Given the description of an element on the screen output the (x, y) to click on. 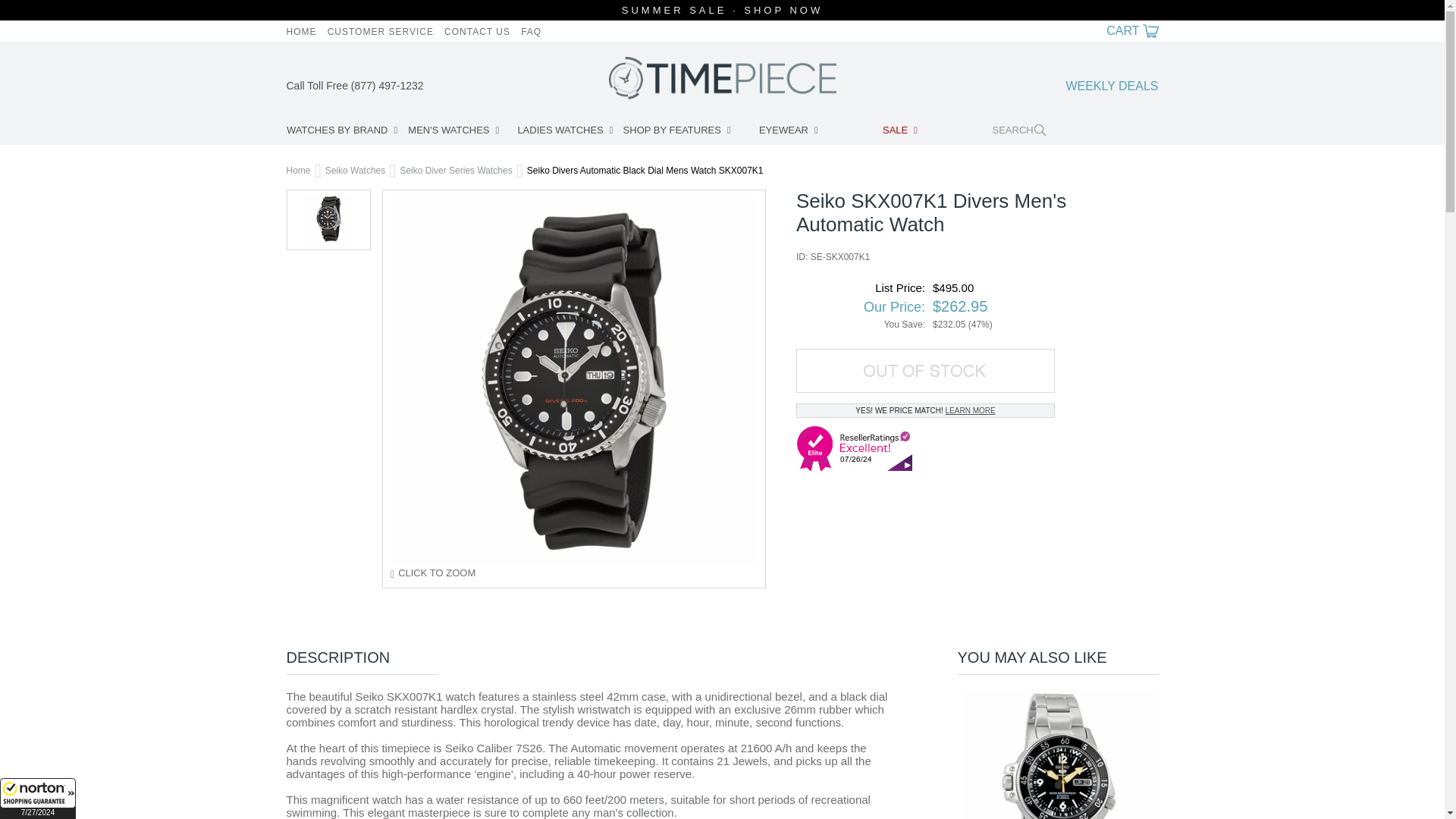
Unused iFrame 1 (37, 798)
Search (1055, 130)
GO (1138, 128)
Seiko SKZ211K1 Series 5 Mens Automatic Watch (1059, 754)
Search (1055, 130)
GO (1138, 128)
